Given the description of an element on the screen output the (x, y) to click on. 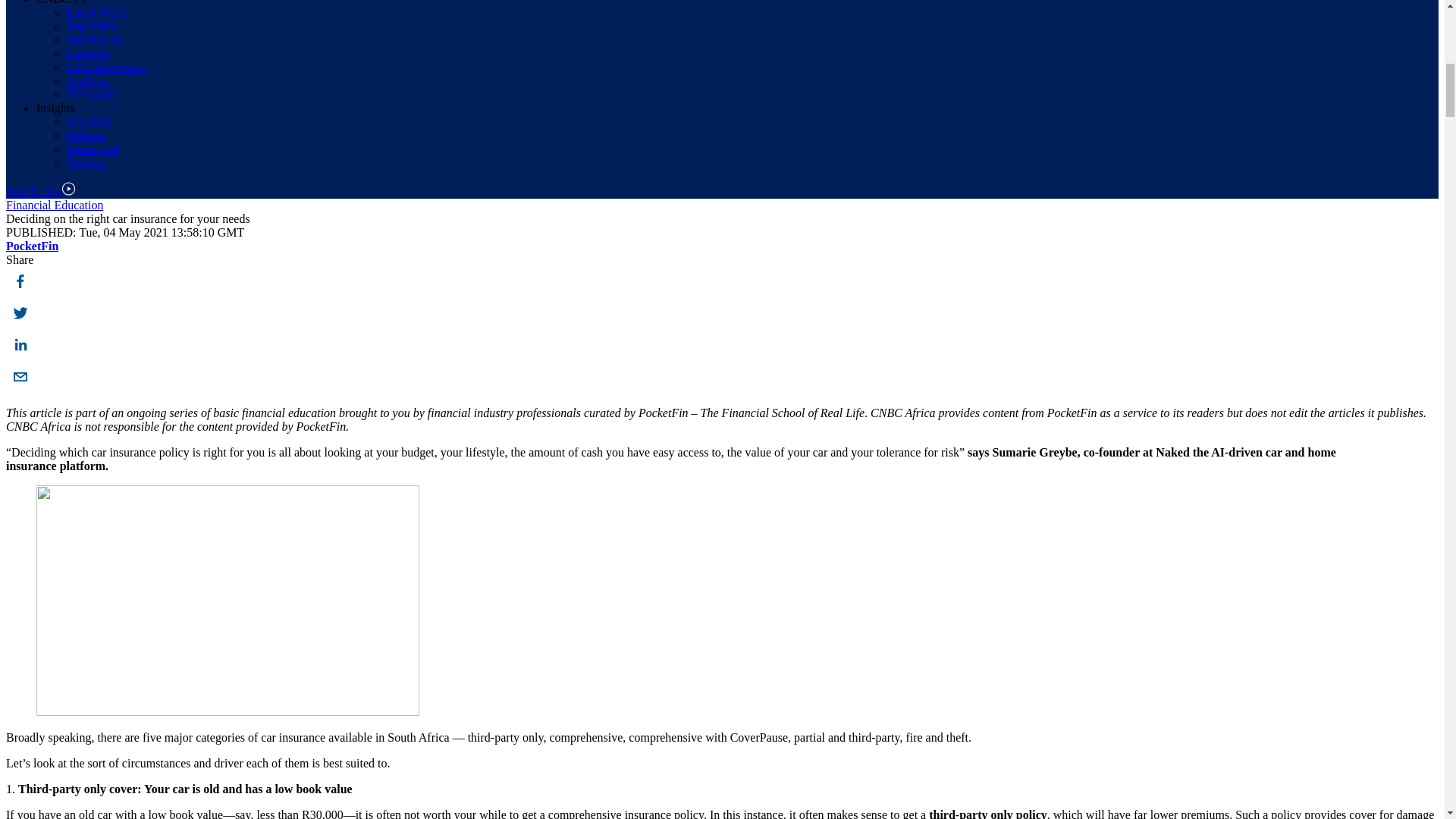
Deciding on the right car insurance for your needs (19, 377)
Analysis (87, 80)
Latest Video (97, 11)
Watch Live (94, 39)
TV Guide (90, 93)
Earnings (88, 52)
Top Video (91, 25)
Deciding on the right car insurance for your needs (19, 282)
CNBC TV (62, 2)
CEO Interviews (105, 66)
